Given the description of an element on the screen output the (x, y) to click on. 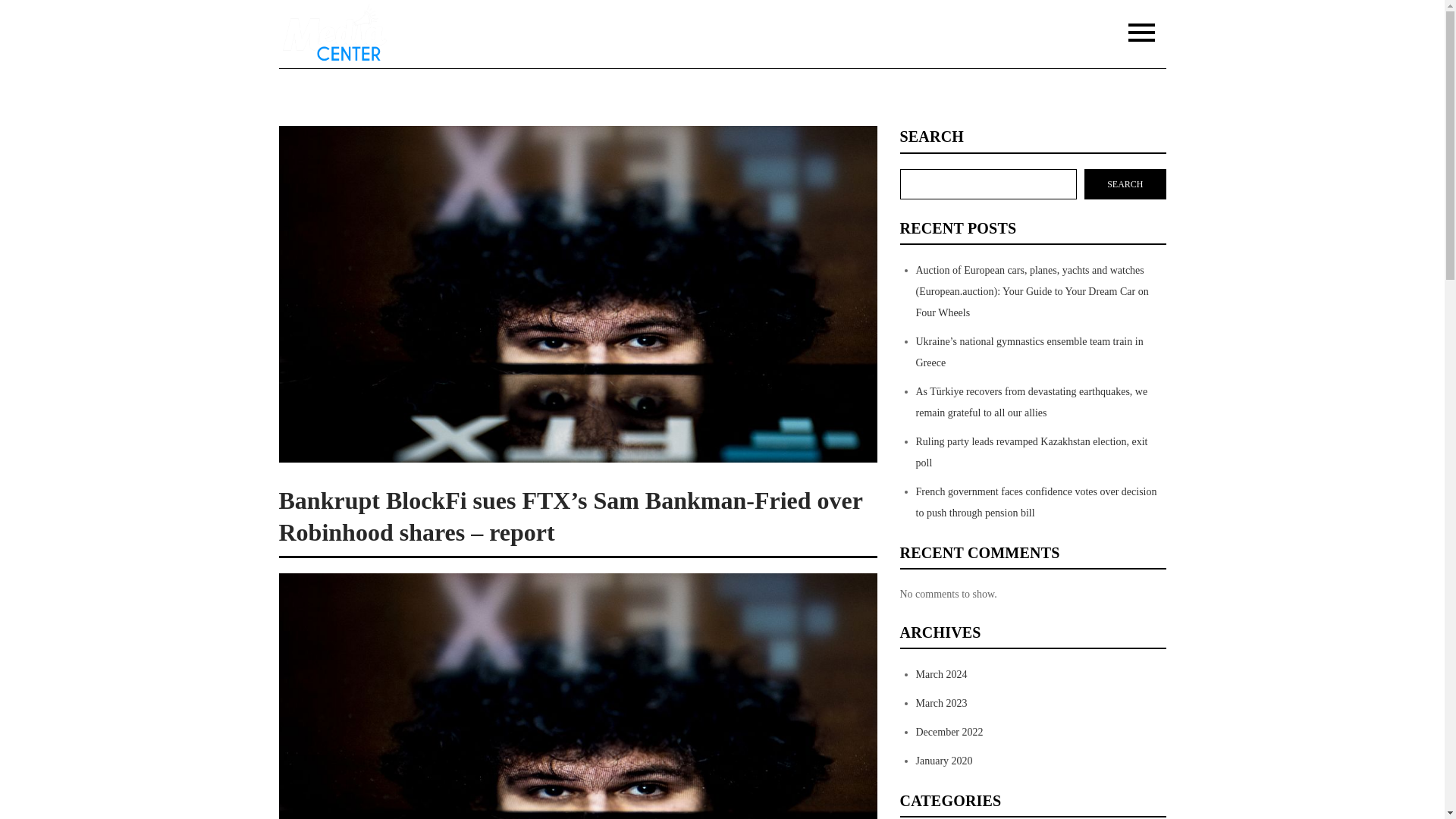
Center of media (464, 45)
March 2023 (941, 703)
March 2024 (941, 674)
Ruling party leads revamped Kazakhstan election, exit poll (1031, 451)
SEARCH (1125, 183)
January 2020 (943, 760)
December 2022 (949, 731)
